Given the description of an element on the screen output the (x, y) to click on. 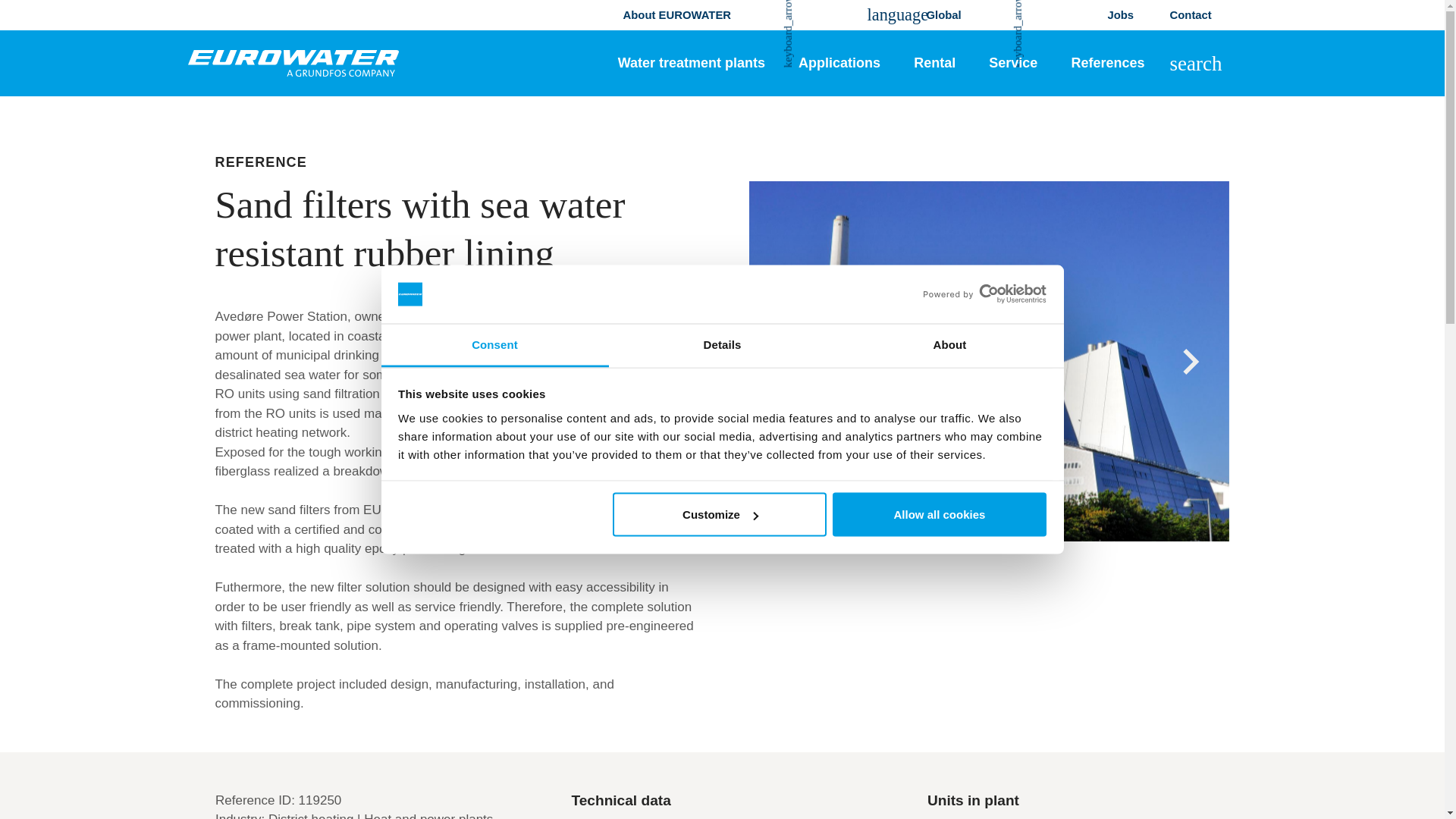
Customize (719, 515)
Details (721, 344)
Allow all cookies (939, 515)
About (948, 344)
Consent (494, 344)
